Given the description of an element on the screen output the (x, y) to click on. 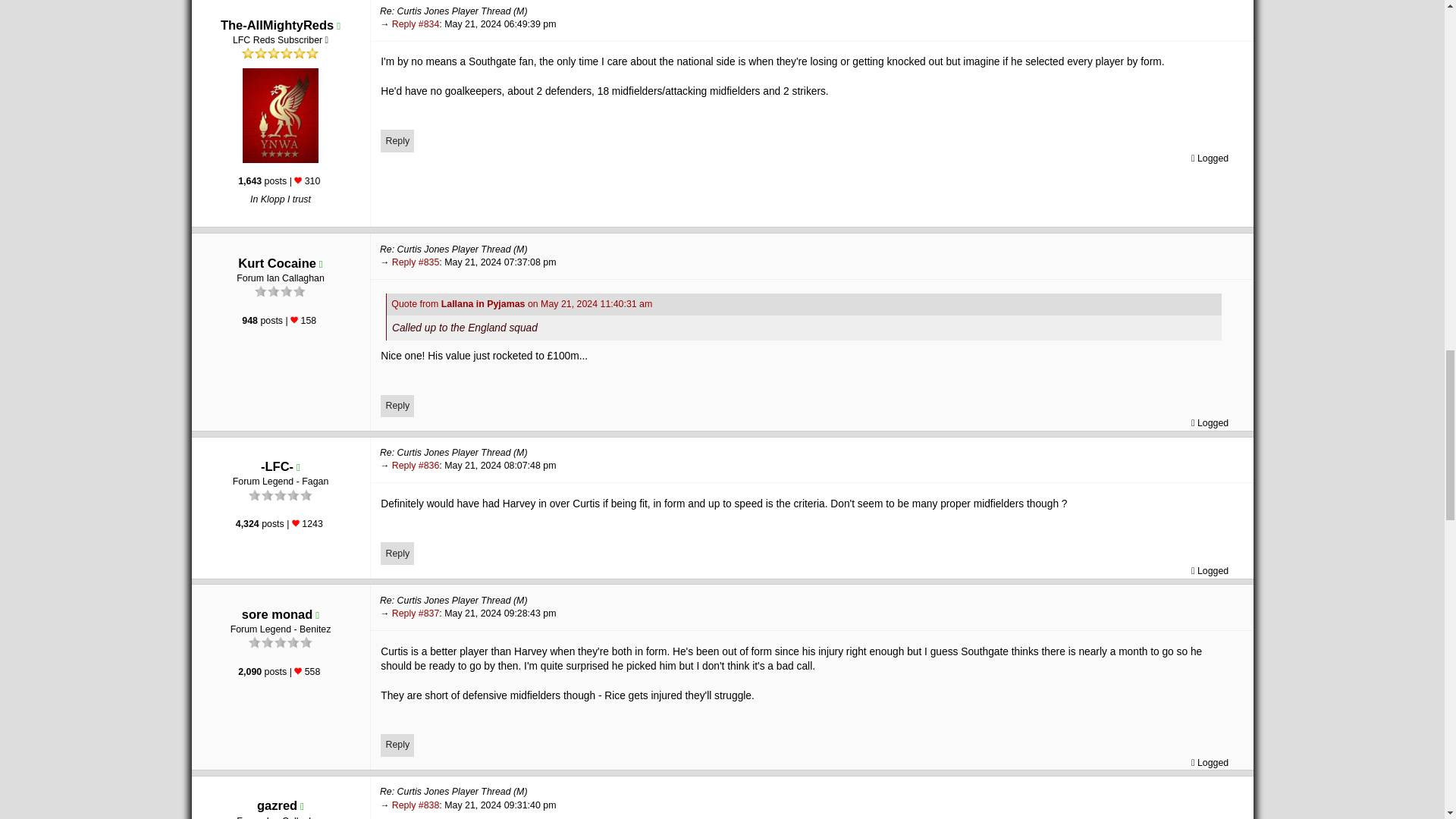
Post Rating (293, 319)
Post Rating (297, 180)
View the profile of The-AllMightyReds (277, 24)
View the profile of Kurt Cocaine (276, 263)
View the profile of -LFC- (277, 466)
Post Rating (295, 523)
